Given the description of an element on the screen output the (x, y) to click on. 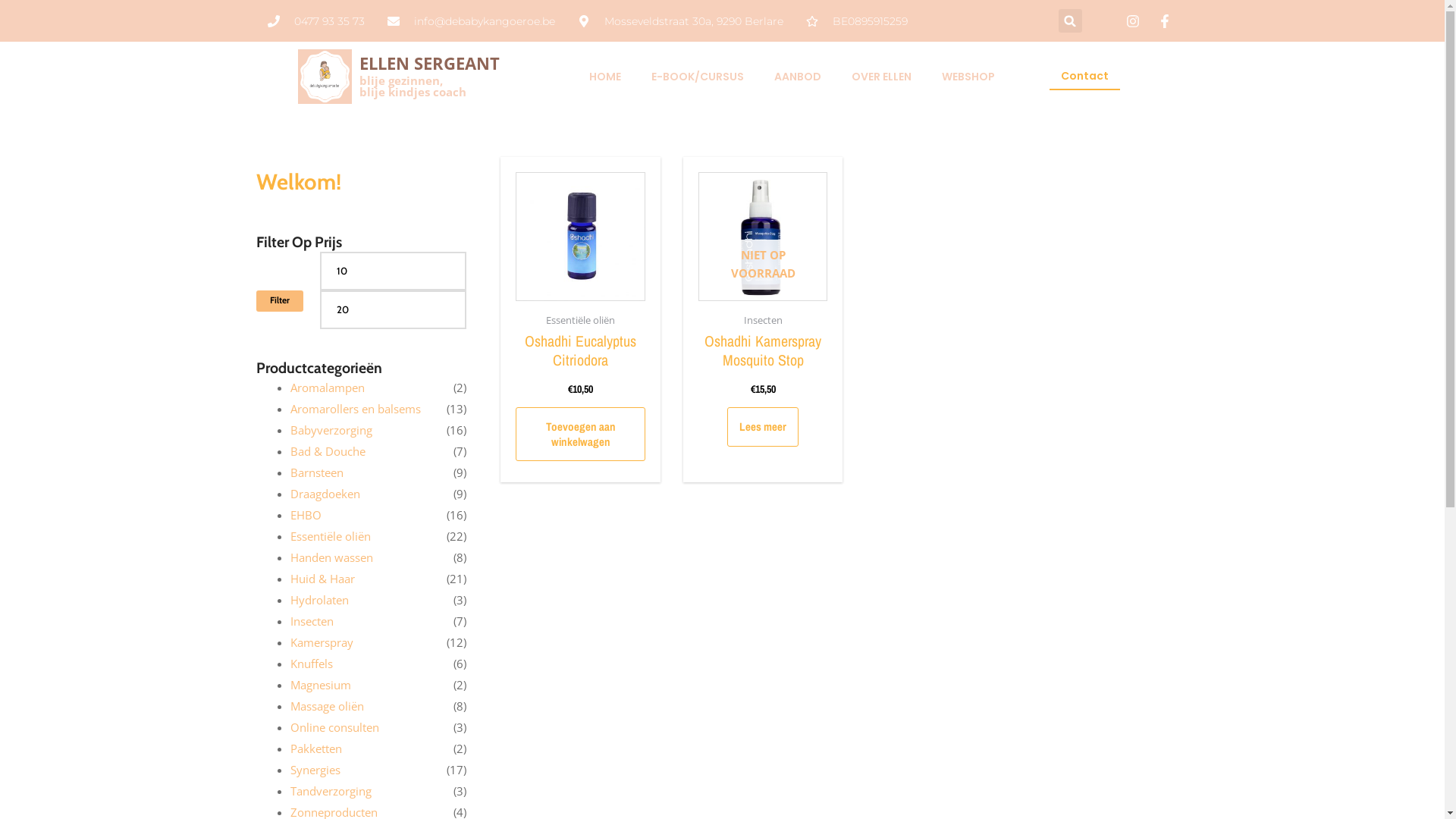
Synergies Element type: text (314, 769)
Aromarollers en balsems Element type: text (354, 408)
Draagdoeken Element type: text (324, 493)
Tandverzorging Element type: text (329, 790)
Pakketten Element type: text (315, 748)
Oshadhi Kamerspray Mosquito Stop Element type: text (763, 350)
Toevoegen aan winkelwagen Element type: text (580, 434)
ELLEN SERGEANT Element type: text (429, 62)
Online consulten Element type: text (333, 726)
Filter Element type: text (279, 300)
NIET OP VOORRAAD Element type: text (763, 236)
HOME Element type: text (605, 76)
Lees meer Element type: text (762, 426)
Babyverzorging Element type: text (330, 429)
Hydrolaten Element type: text (318, 599)
Insecten Element type: text (310, 620)
Magnesium Element type: text (319, 684)
EHBO Element type: text (304, 514)
Oshadhi Eucalyptus Citriodora Element type: text (580, 350)
AANBOD Element type: text (797, 76)
Aromalampen Element type: text (326, 387)
Barnsteen Element type: text (315, 472)
Handen wassen Element type: text (330, 556)
OVER ELLEN Element type: text (881, 76)
Contact Element type: text (1084, 76)
WEBSHOP Element type: text (968, 76)
E-BOOK/CURSUS Element type: text (697, 76)
blije gezinnen,
blije kindjes coach Element type: text (412, 85)
Kamerspray Element type: text (320, 641)
Knuffels Element type: text (310, 663)
Bad & Douche Element type: text (326, 450)
Huid & Haar Element type: text (321, 578)
